Given the description of an element on the screen output the (x, y) to click on. 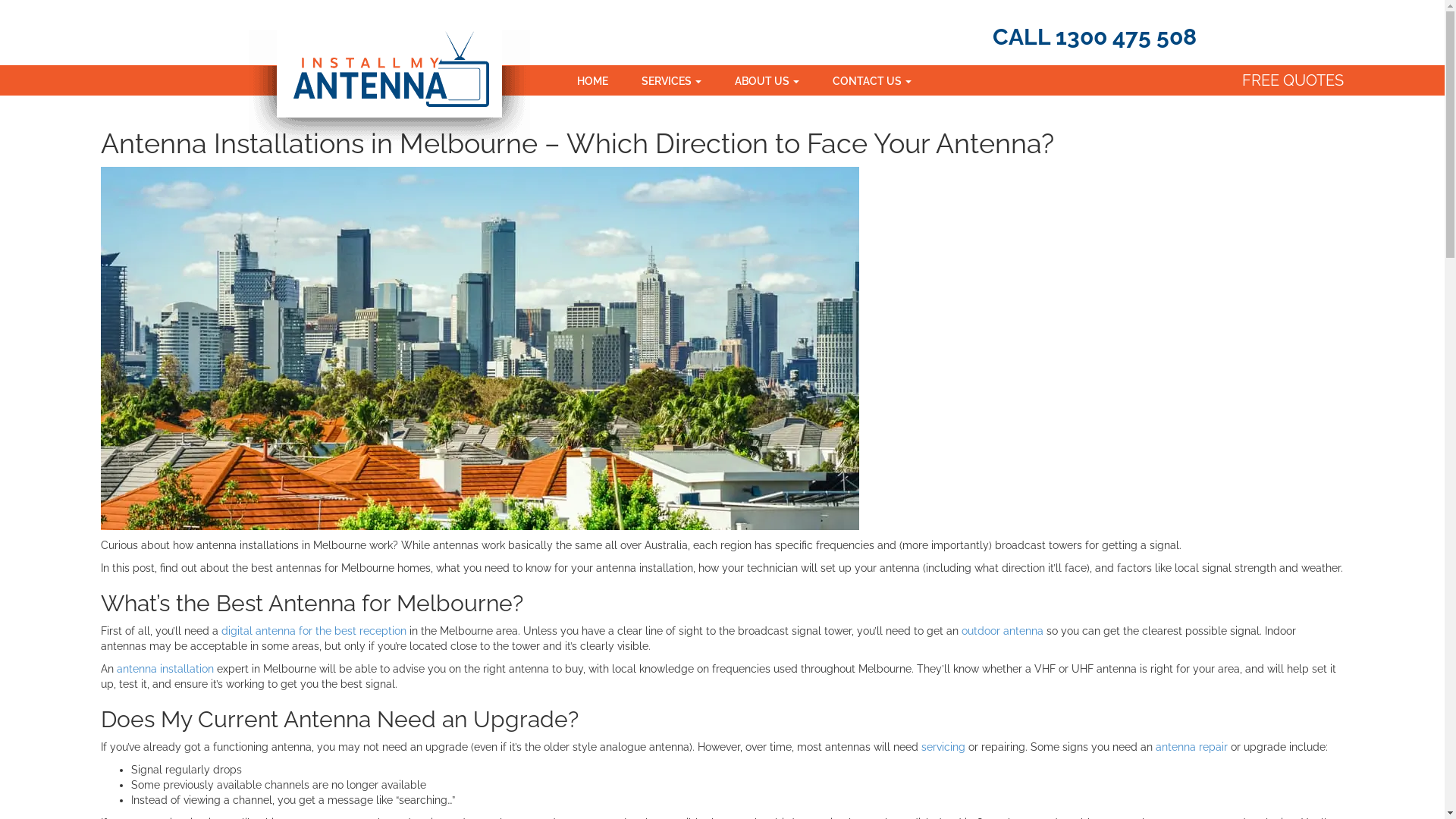
digital antenna for the best reception Element type: text (313, 630)
ABOUT US Element type: text (766, 80)
servicing Element type: text (943, 746)
antenna installation Element type: text (164, 668)
SERVICES Element type: text (671, 80)
HOME Element type: text (592, 80)
outdoor antenna Element type: text (1002, 630)
antenna installation melbourne Element type: hover (479, 348)
antenna repair Element type: text (1191, 746)
CONTACT US Element type: text (871, 80)
